Given the description of an element on the screen output the (x, y) to click on. 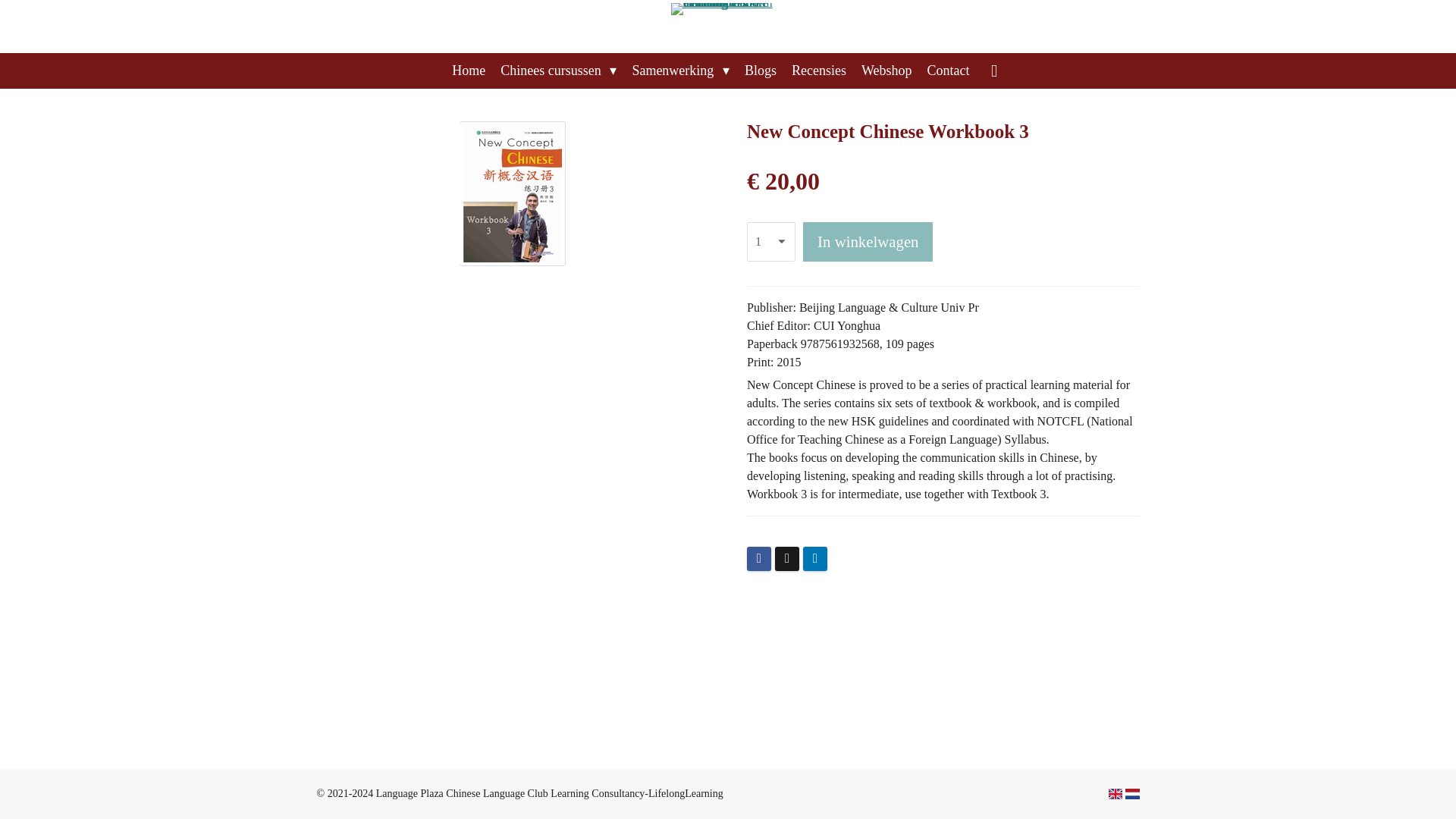
In winkelwagen (868, 241)
Recensies (818, 70)
Chinees cursussen (558, 70)
Contact (948, 70)
Zoeken (993, 70)
Webshop (886, 70)
Samenwerking (680, 70)
Huidige taal (1132, 793)
In winkelwagen (868, 241)
Blogs (760, 70)
Home (468, 70)
